Given the description of an element on the screen output the (x, y) to click on. 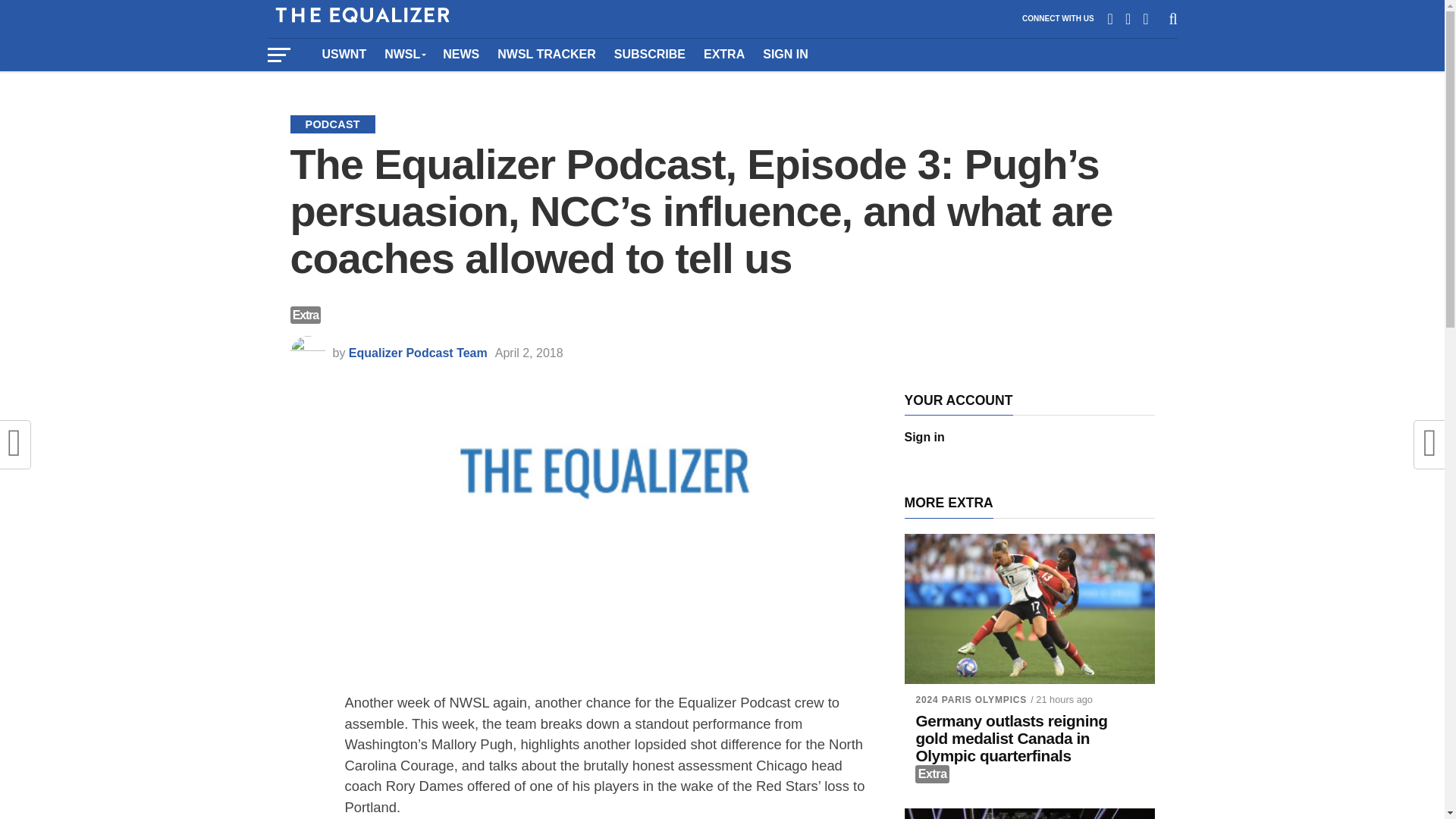
Posts by Equalizer Podcast Team (418, 352)
USWNT (344, 54)
NWSL (404, 54)
